Given the description of an element on the screen output the (x, y) to click on. 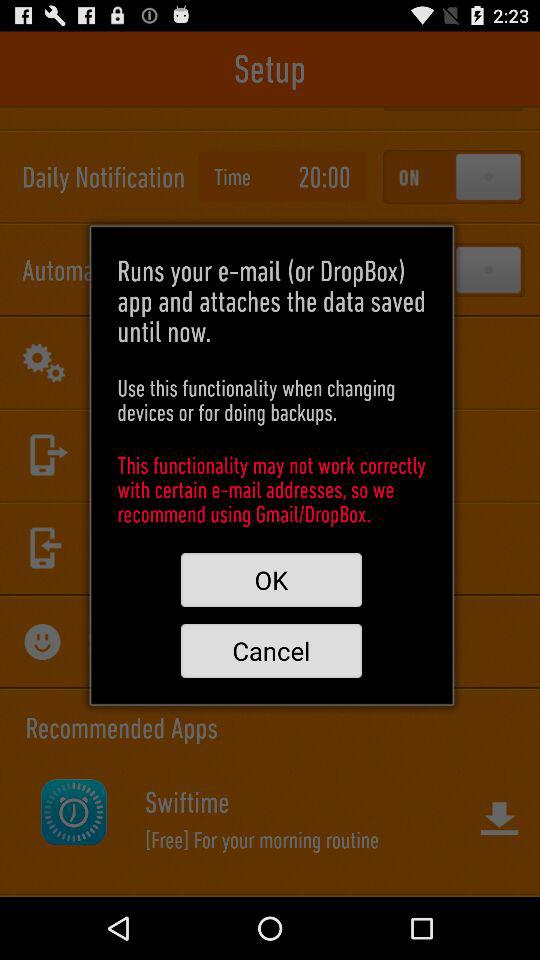
launch the button at the bottom (271, 650)
